Given the description of an element on the screen output the (x, y) to click on. 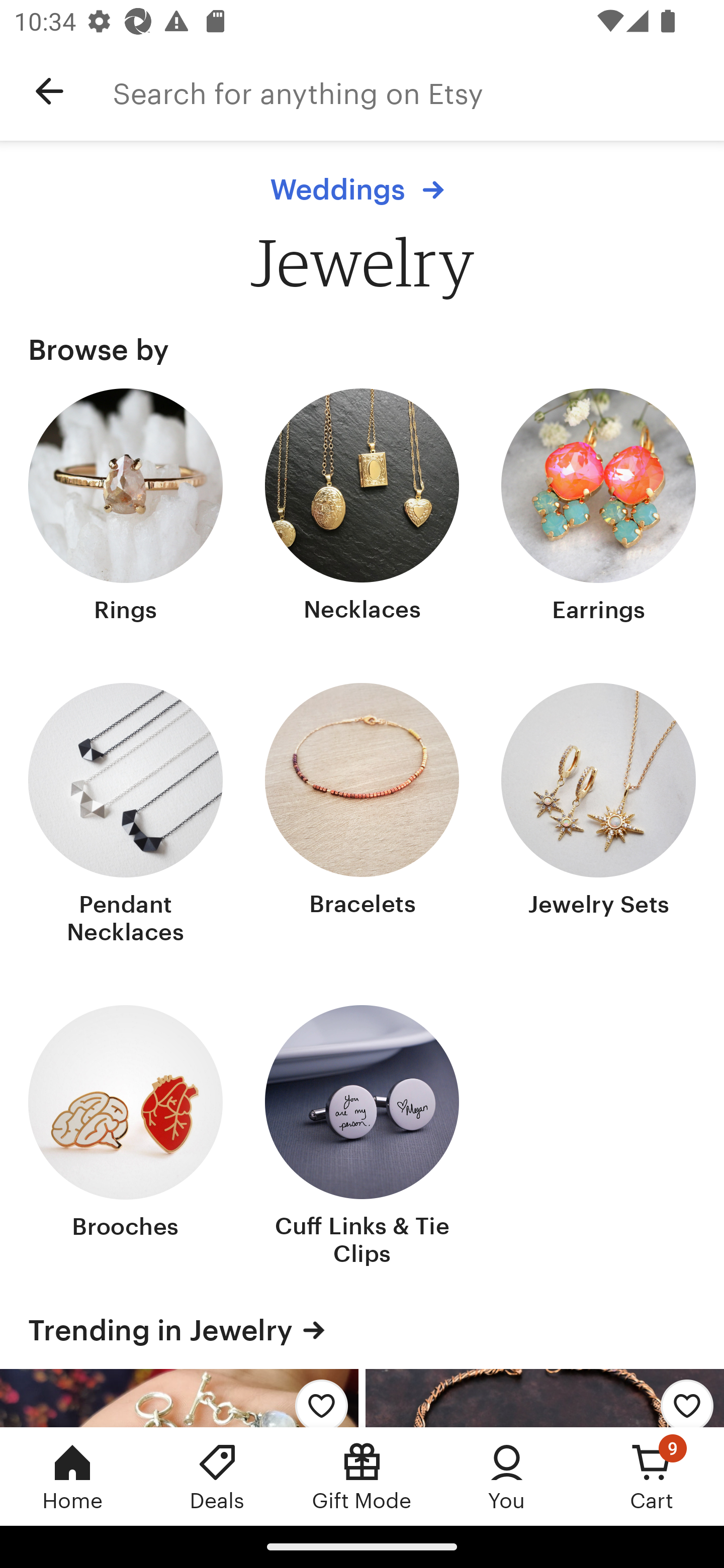
Navigate up (49, 91)
Search for anything on Etsy (418, 91)
Weddings (361, 189)
Rings (125, 507)
Necklaces (361, 507)
Earrings (598, 507)
Pendant Necklaces (125, 815)
Bracelets (361, 815)
Jewelry Sets (598, 815)
Brooches (125, 1137)
Cuff Links & Tie Clips (361, 1137)
Trending in Jewelry  (361, 1330)
Deals (216, 1475)
Gift Mode (361, 1475)
You (506, 1475)
Cart, 9 new notifications Cart (651, 1475)
